Given the description of an element on the screen output the (x, y) to click on. 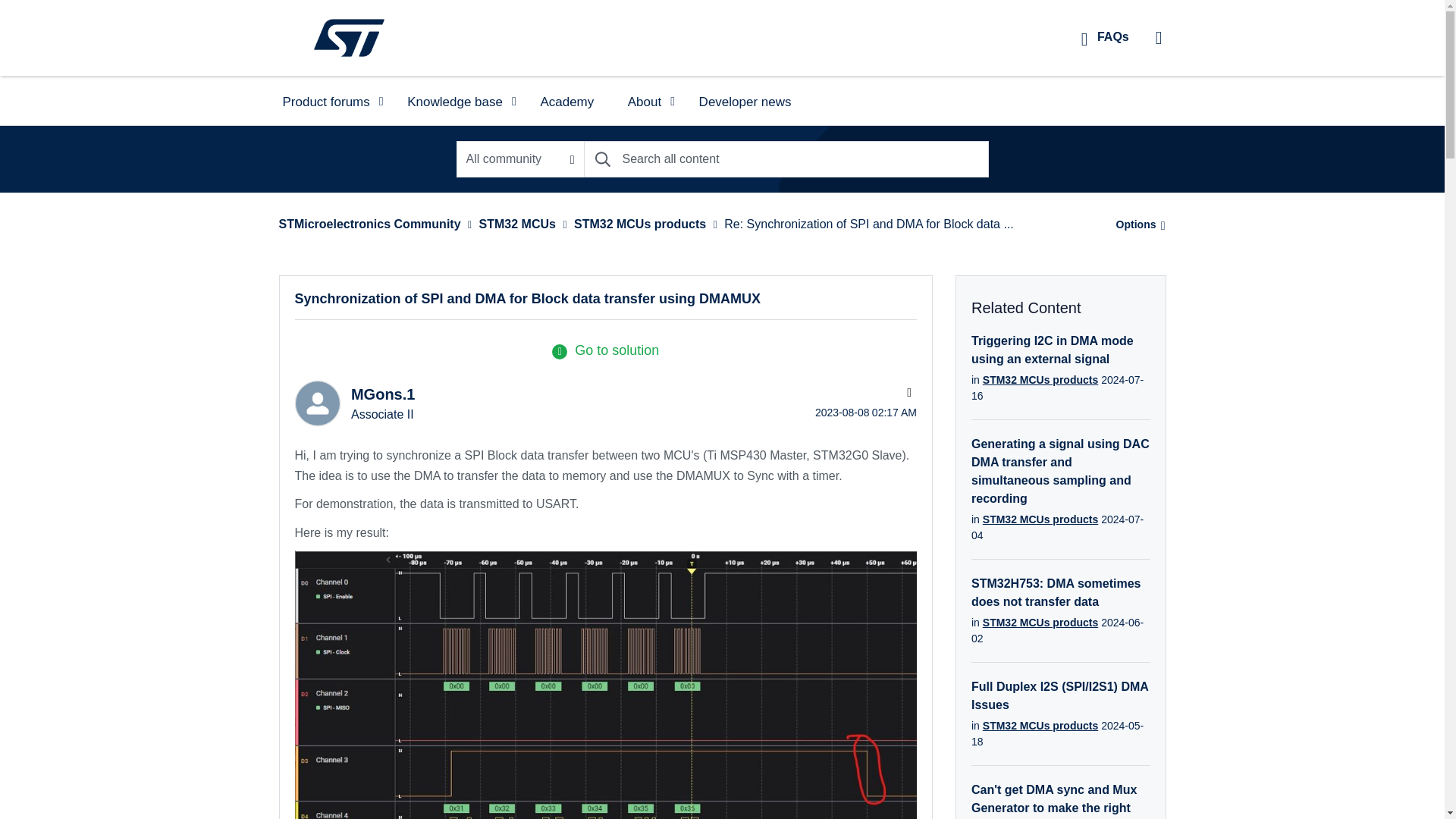
Product forums (327, 100)
FAQs (1105, 35)
Search (785, 158)
Show option menu (1136, 224)
MGons.1 (316, 402)
STMicroelectronics Community (348, 37)
Search (602, 159)
Search (602, 159)
Search Granularity (520, 158)
